Given the description of an element on the screen output the (x, y) to click on. 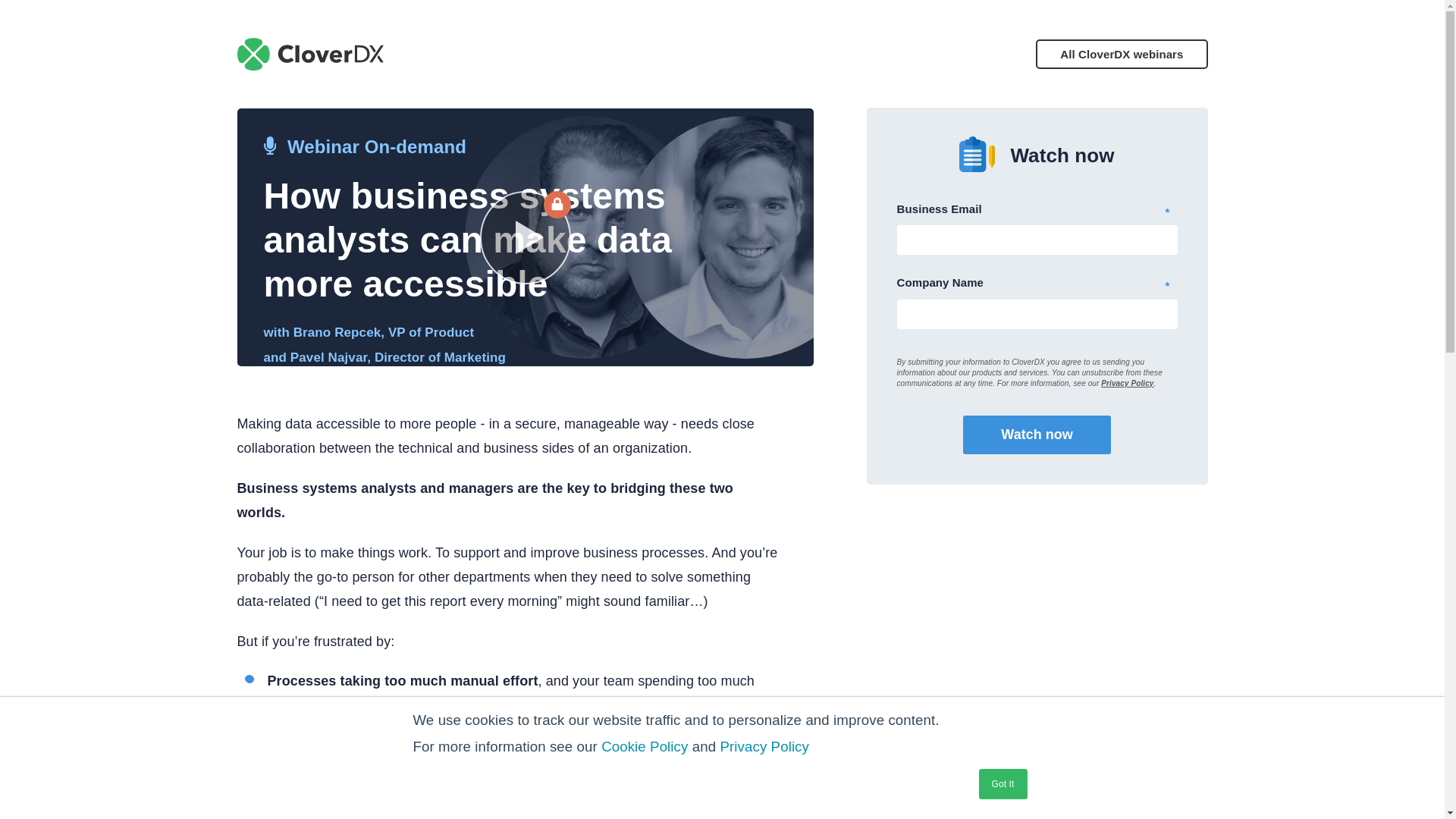
Got It (1002, 784)
Cookie Policy (644, 746)
Watch now (1035, 434)
Watch now (1035, 434)
Privacy Policy (1126, 383)
All CloverDX webinars (1121, 53)
Privacy Policy (764, 746)
